Given the description of an element on the screen output the (x, y) to click on. 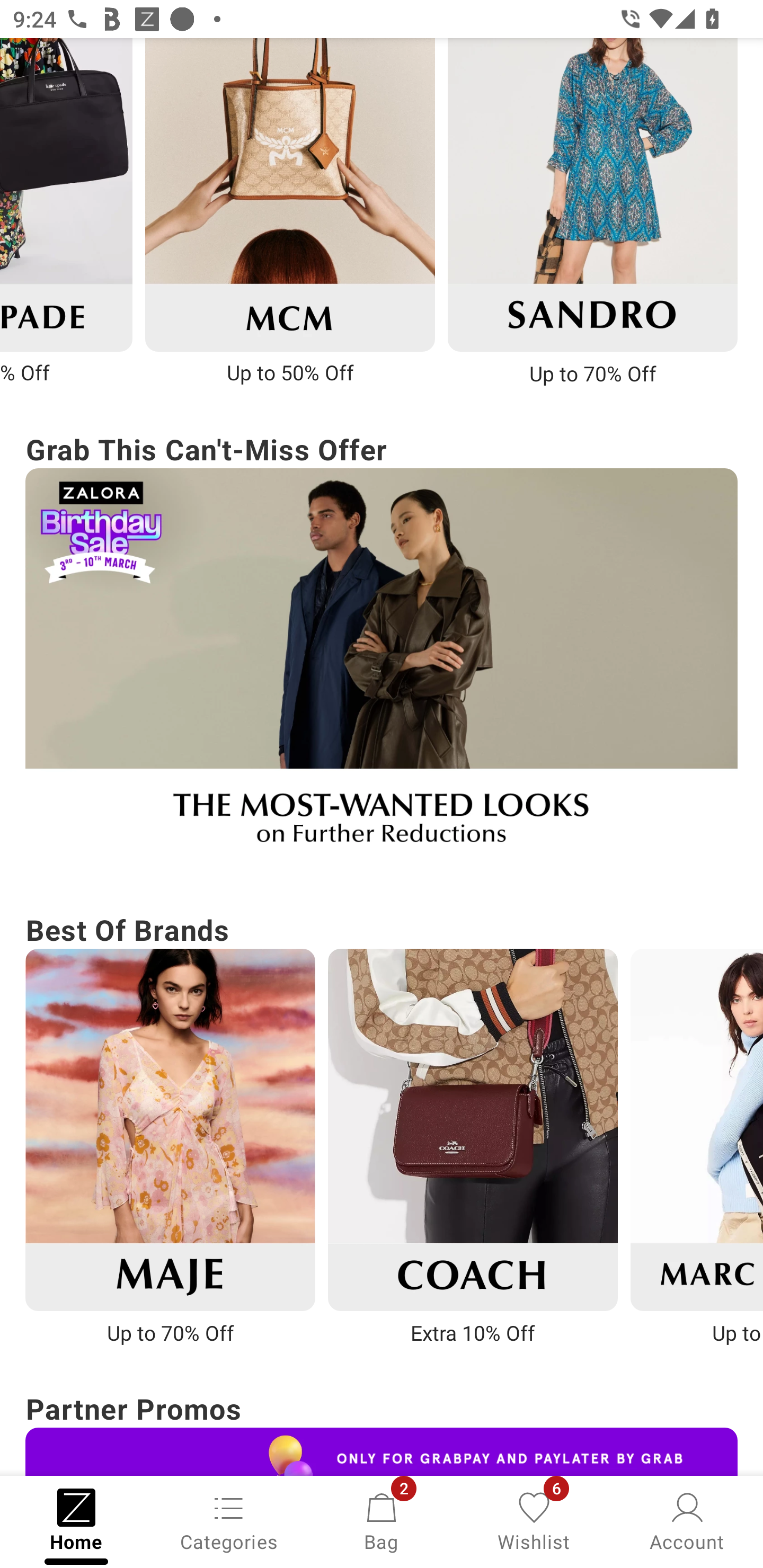
Campaign banner (289, 194)
Campaign banner (592, 194)
Grab This Can't-Miss Offer Campaign banner (381, 647)
Campaign banner (381, 668)
Campaign banner (170, 1129)
Campaign banner (473, 1129)
Partner Promos Campaign banner (381, 1430)
Campaign banner (381, 1450)
Categories (228, 1519)
Bag, 2 new notifications Bag (381, 1519)
Wishlist, 6 new notifications Wishlist (533, 1519)
Account (686, 1519)
